Given the description of an element on the screen output the (x, y) to click on. 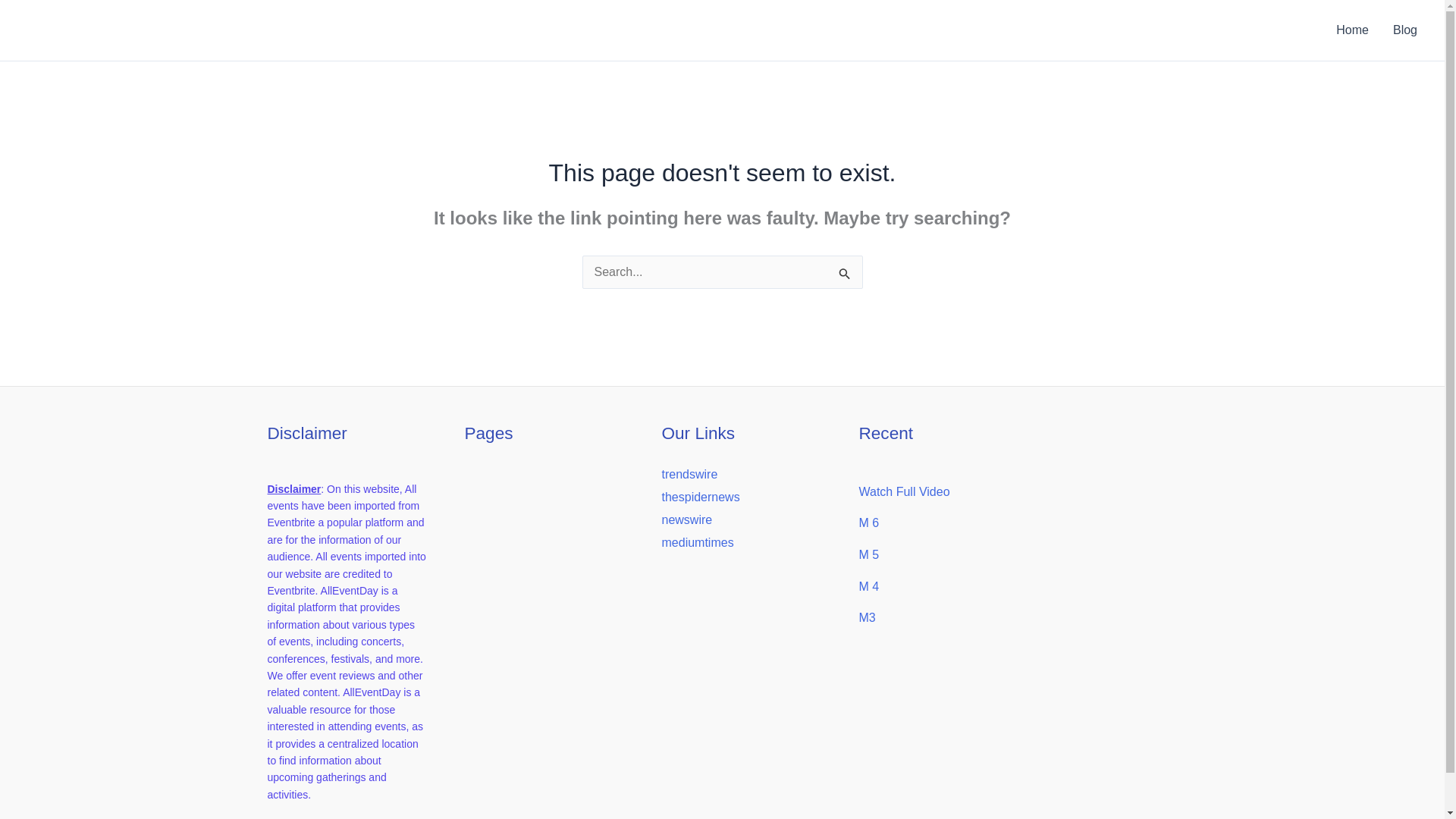
M3 (867, 617)
newswire (686, 519)
Home (1351, 30)
M 6 (869, 522)
trendswire (689, 473)
mediumtimes (697, 542)
M 4 (869, 585)
M 5 (869, 554)
thespidernews (700, 496)
Watch Full Video (904, 491)
